Given the description of an element on the screen output the (x, y) to click on. 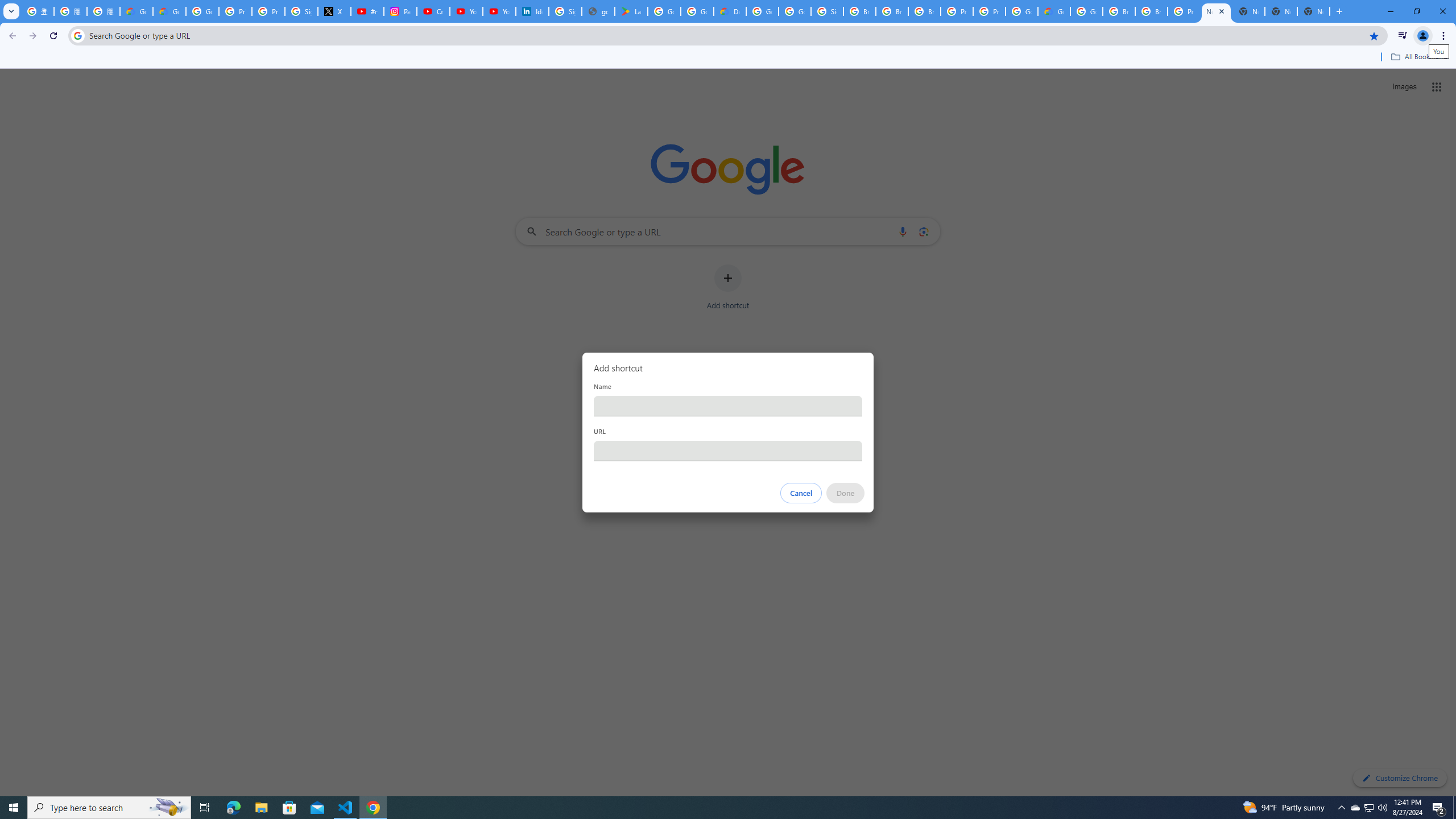
Google Cloud Privacy Notice (169, 11)
Google Workspace - Specific Terms (697, 11)
Browse Chrome as a guest - Computer - Google Chrome Help (859, 11)
Sign in - Google Accounts (827, 11)
New Tab (1313, 11)
Cancel (801, 493)
X (334, 11)
Privacy Help Center - Policies Help (268, 11)
Google Cloud Platform (1086, 11)
